Given the description of an element on the screen output the (x, y) to click on. 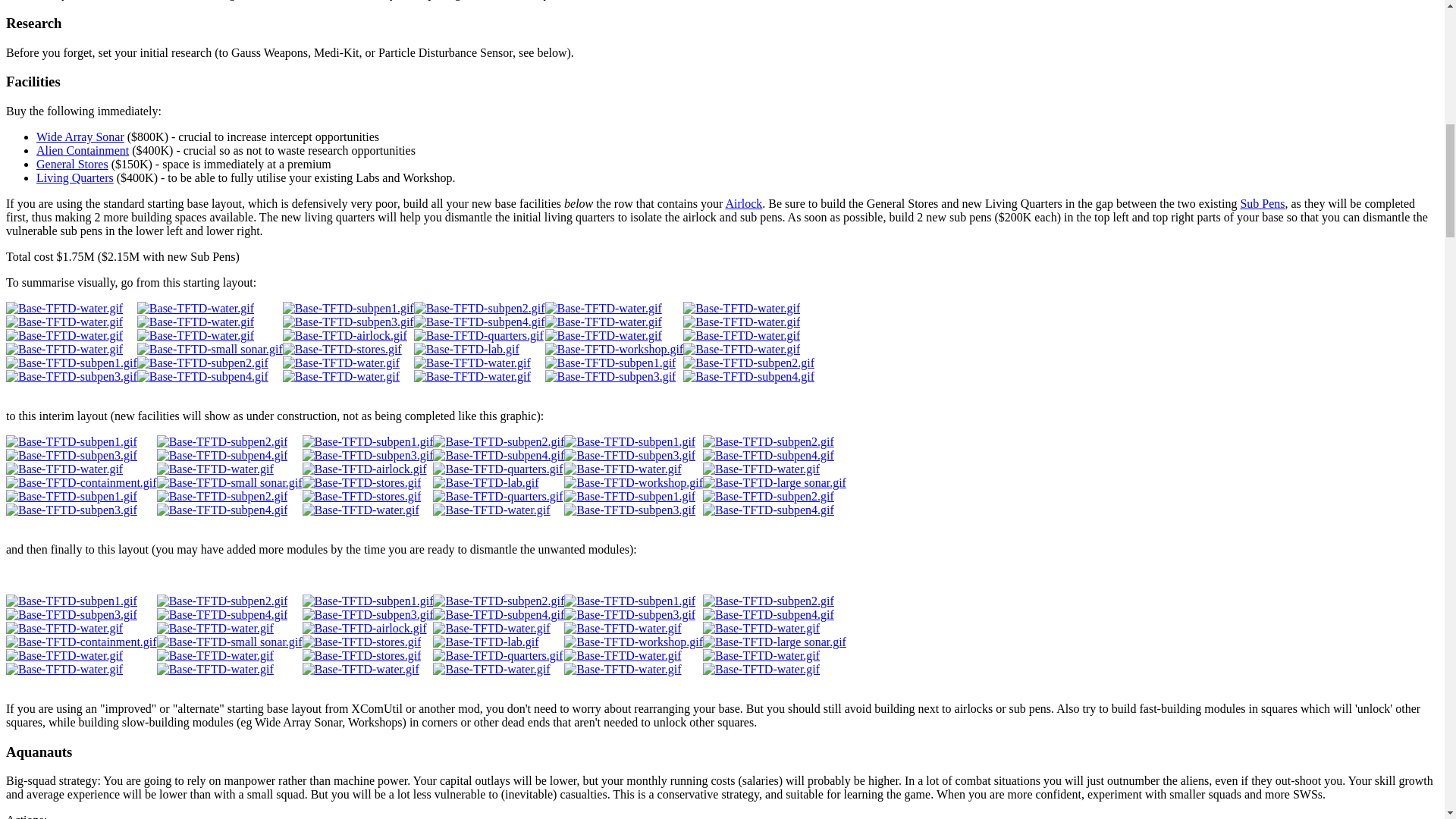
Living Quarters (74, 177)
Airlock (743, 203)
Living Quarters (74, 177)
Sub Pens (1262, 203)
Alien Containment (82, 150)
General Stores (71, 164)
Airlock (743, 203)
Sub Pen (1262, 203)
Wide Array Sonar (79, 136)
Wide Array Sonar (79, 136)
